Given the description of an element on the screen output the (x, y) to click on. 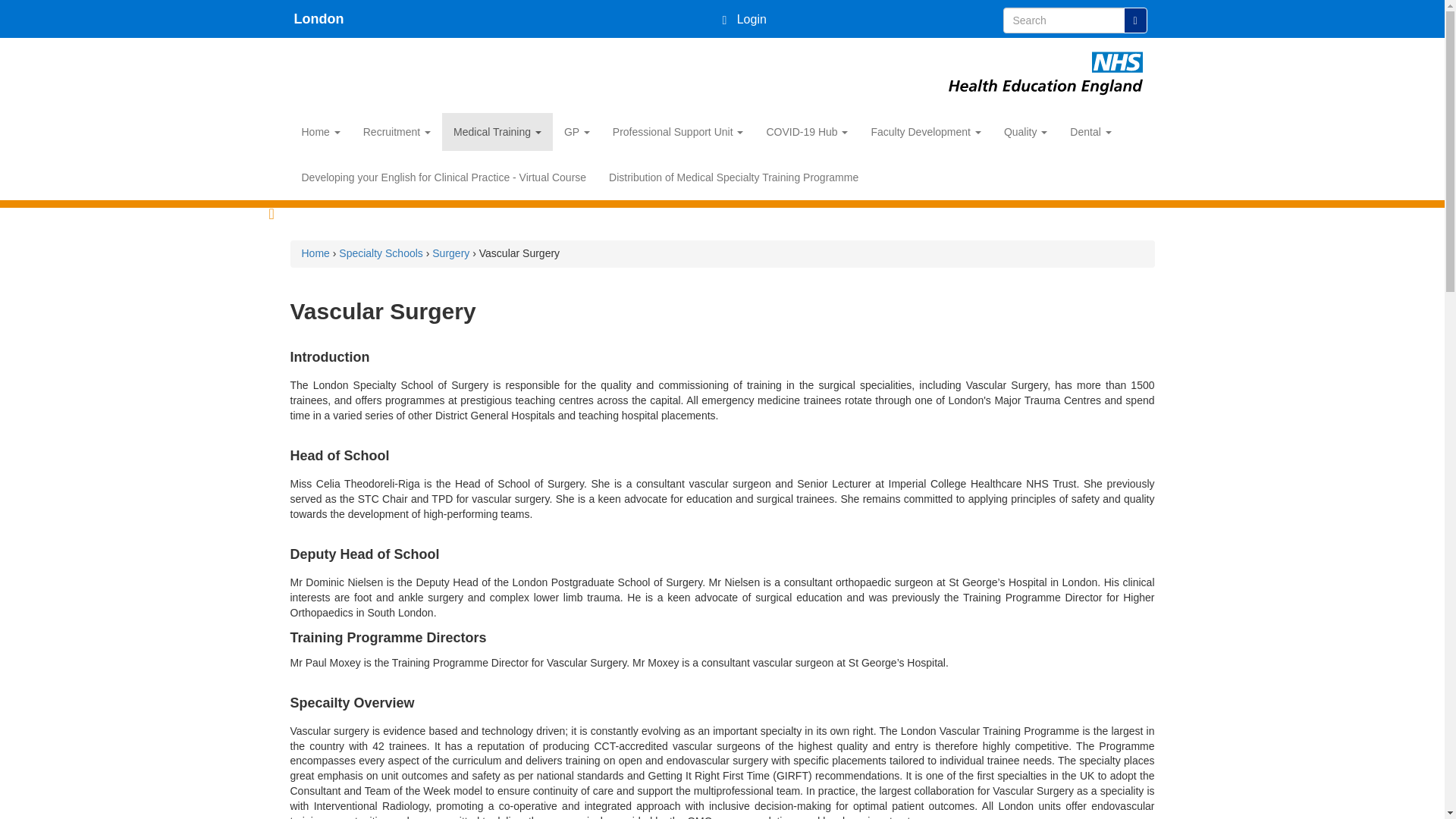
Medical Training (497, 131)
Enter the terms you wish to search for. (1063, 20)
Home (316, 18)
Recruitment (397, 131)
  Login (743, 18)
Medical Training (497, 131)
Home (319, 131)
London (316, 18)
